Given the description of an element on the screen output the (x, y) to click on. 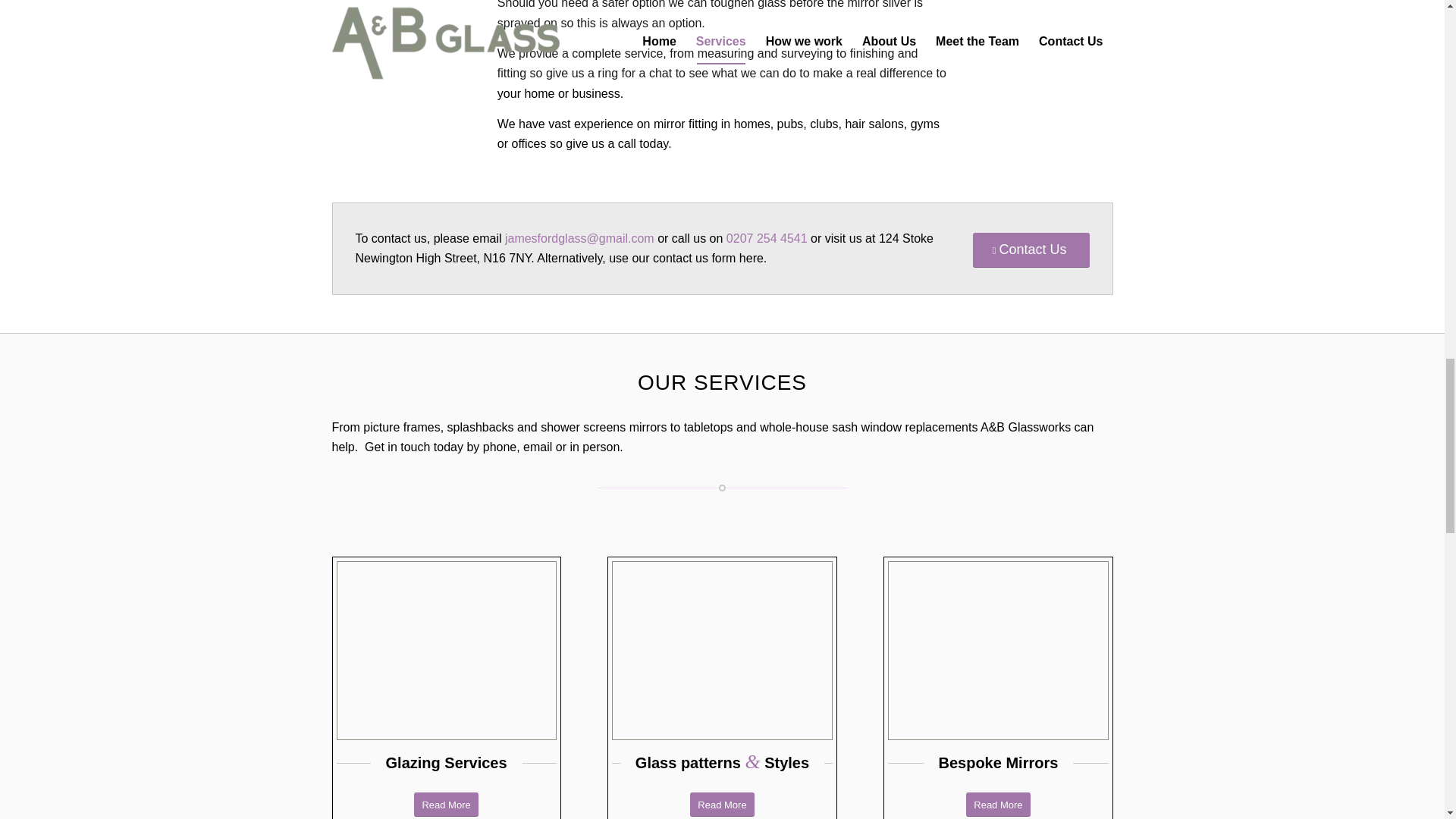
bespoke-mirrors (998, 653)
glass-patterns (721, 653)
0207 254 4541 (767, 237)
Read More (445, 804)
Read More (997, 804)
Read More (722, 804)
glazing-services-image (446, 653)
Contact Us (1030, 249)
